Given the description of an element on the screen output the (x, y) to click on. 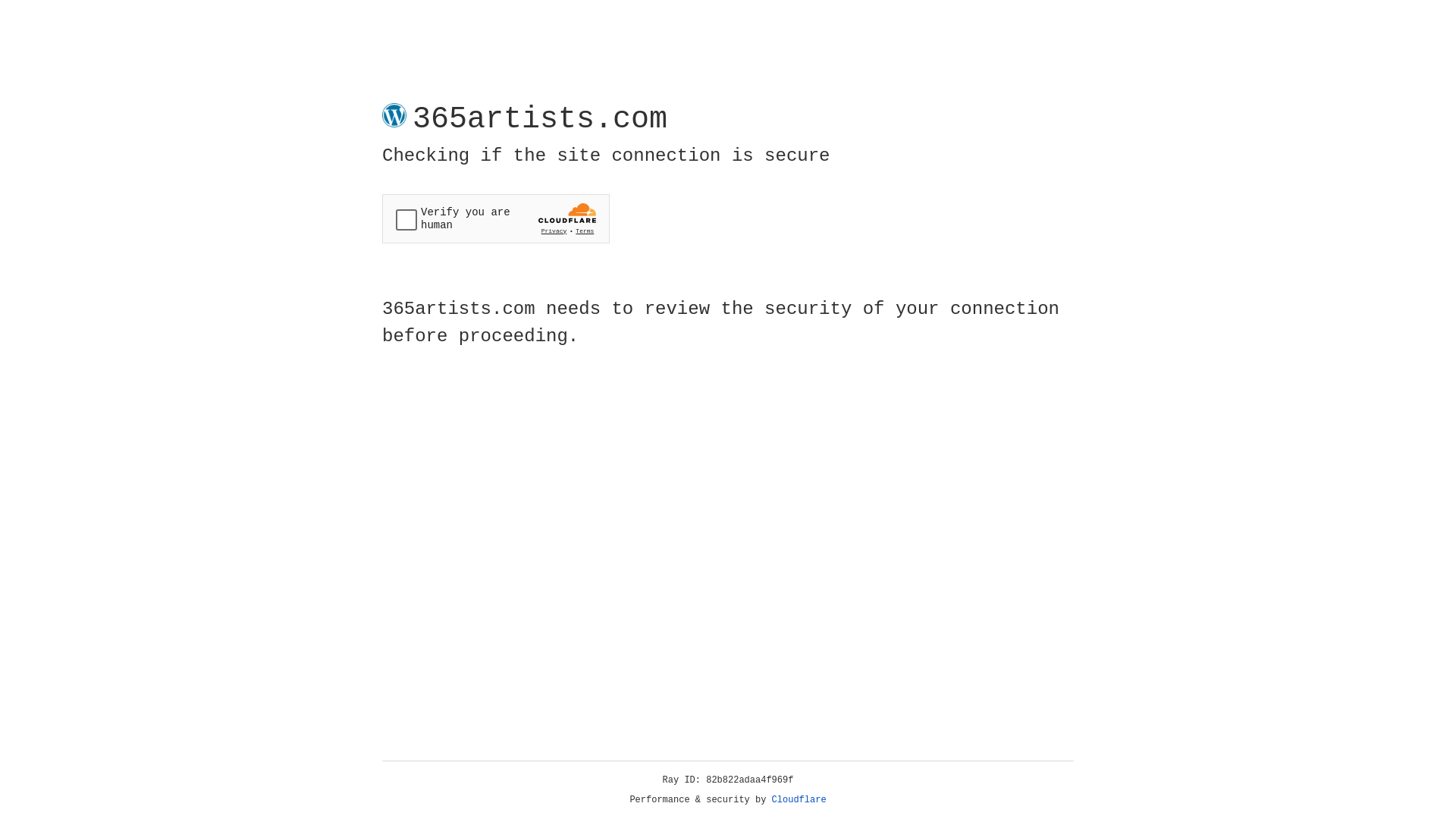
Cloudflare Element type: text (798, 799)
Widget containing a Cloudflare security challenge Element type: hover (495, 218)
